Given the description of an element on the screen output the (x, y) to click on. 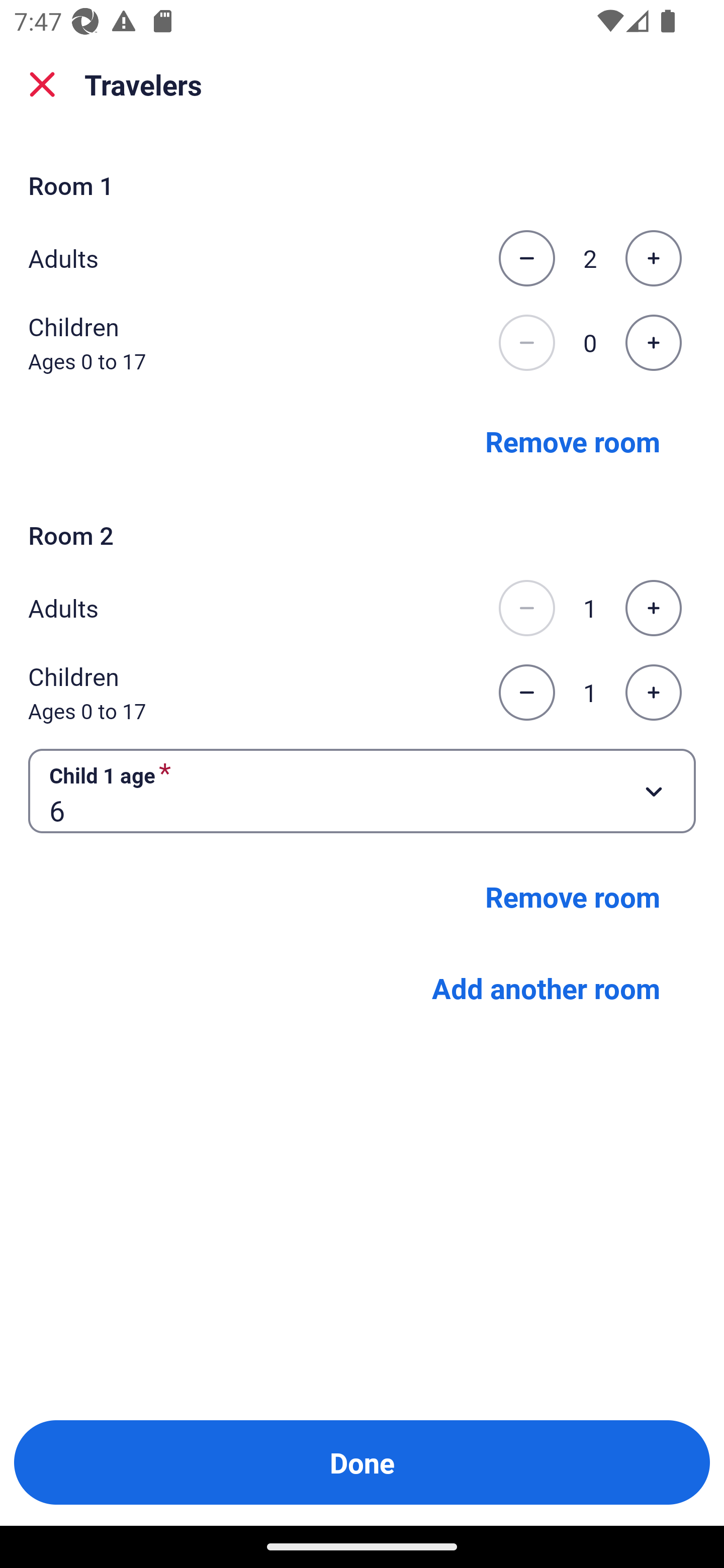
close (42, 84)
Decrease the number of adults (526, 258)
Increase the number of adults (653, 258)
Decrease the number of children (526, 343)
Increase the number of children (653, 343)
Remove room (572, 440)
Decrease the number of adults (526, 608)
Increase the number of adults (653, 608)
Decrease the number of children (526, 692)
Increase the number of children (653, 692)
Child 1 age required Button 6 (361, 790)
Remove room (572, 896)
Add another room (545, 987)
Done (361, 1462)
